Given the description of an element on the screen output the (x, y) to click on. 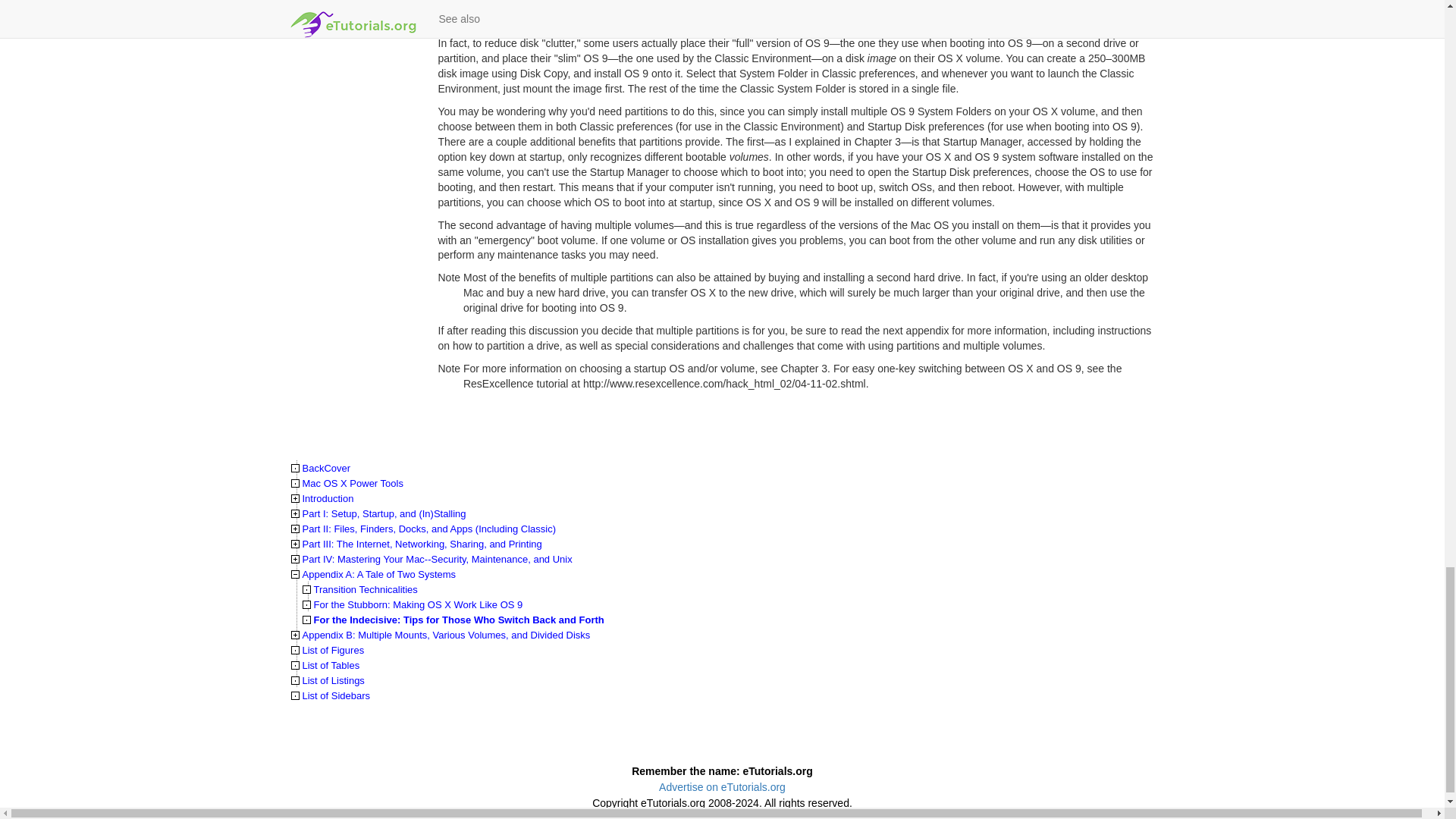
BackCover (325, 468)
Introduction (327, 498)
Mac OS X Power Tools (352, 482)
